Given the description of an element on the screen output the (x, y) to click on. 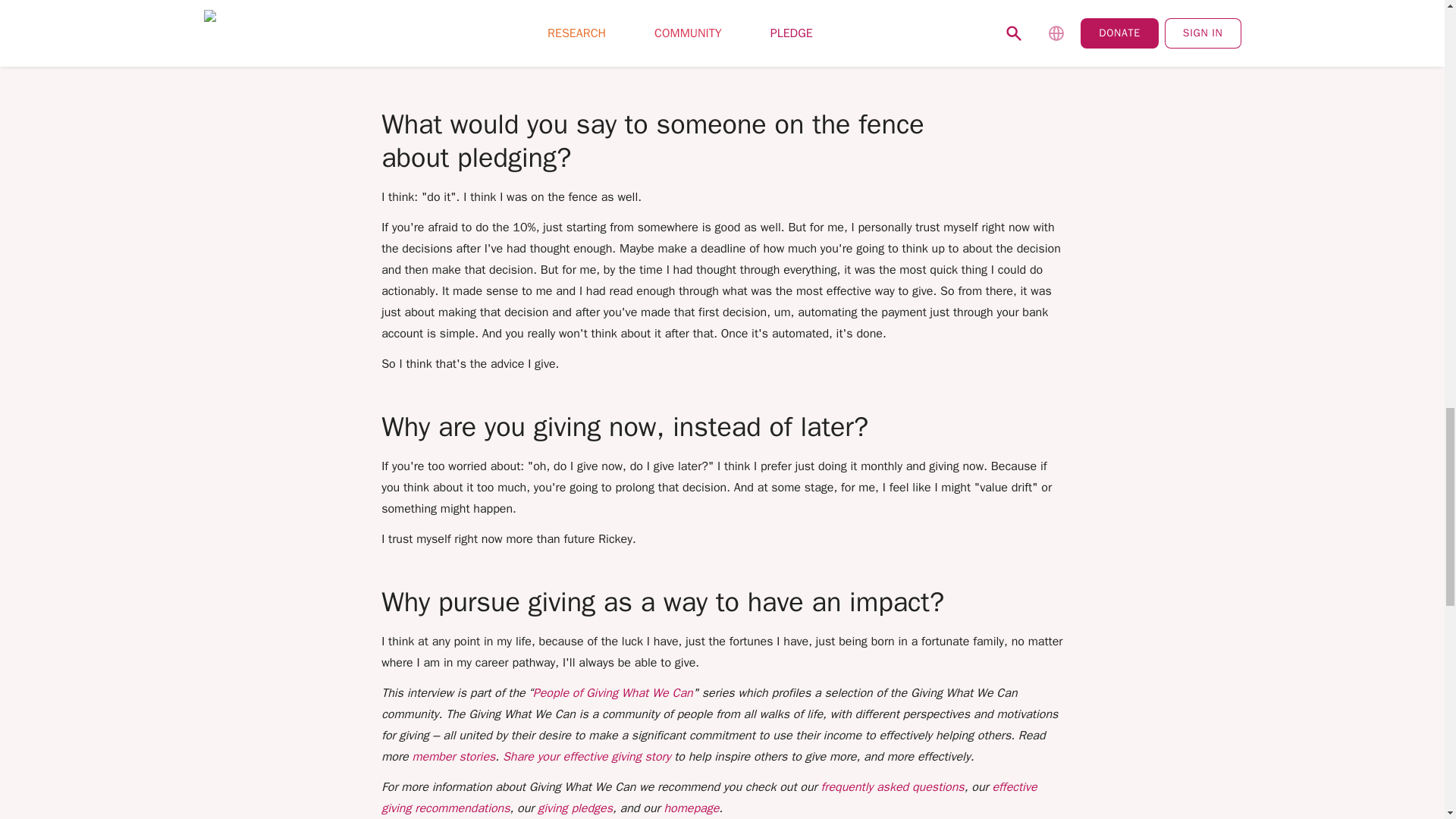
frequently asked questions (892, 786)
Share your effective giving story (585, 756)
effective giving recommendations (708, 797)
homepage (691, 807)
giving pledges (574, 807)
People of Giving What We Can (612, 693)
member stories (453, 756)
